Given the description of an element on the screen output the (x, y) to click on. 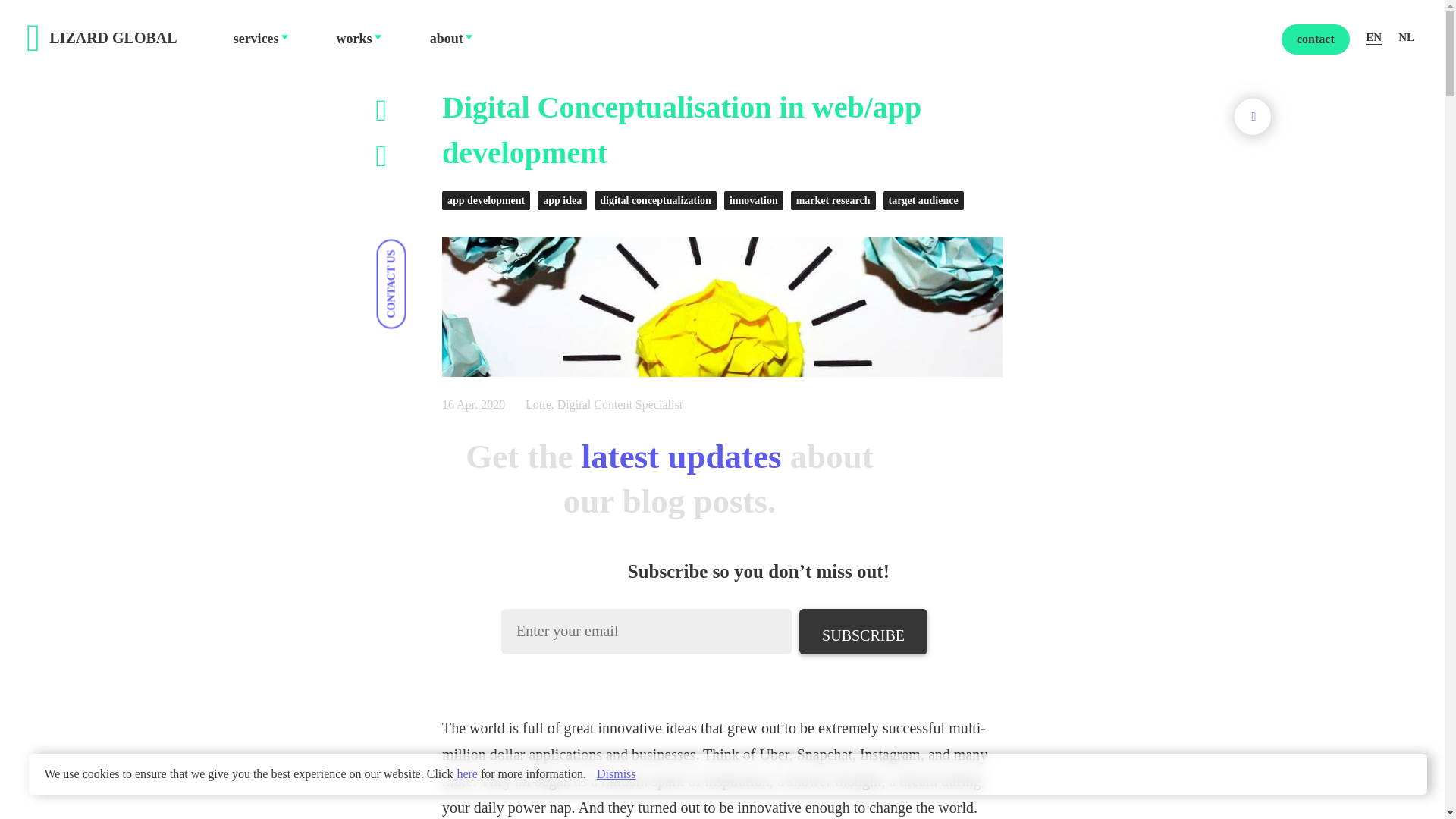
about (446, 38)
digital conceptualization (658, 200)
Dismiss (616, 773)
app idea (565, 200)
works (354, 38)
market research (836, 200)
app development (489, 200)
SUBSCRIBE (863, 631)
services (255, 38)
target audience (927, 200)
